Given the description of an element on the screen output the (x, y) to click on. 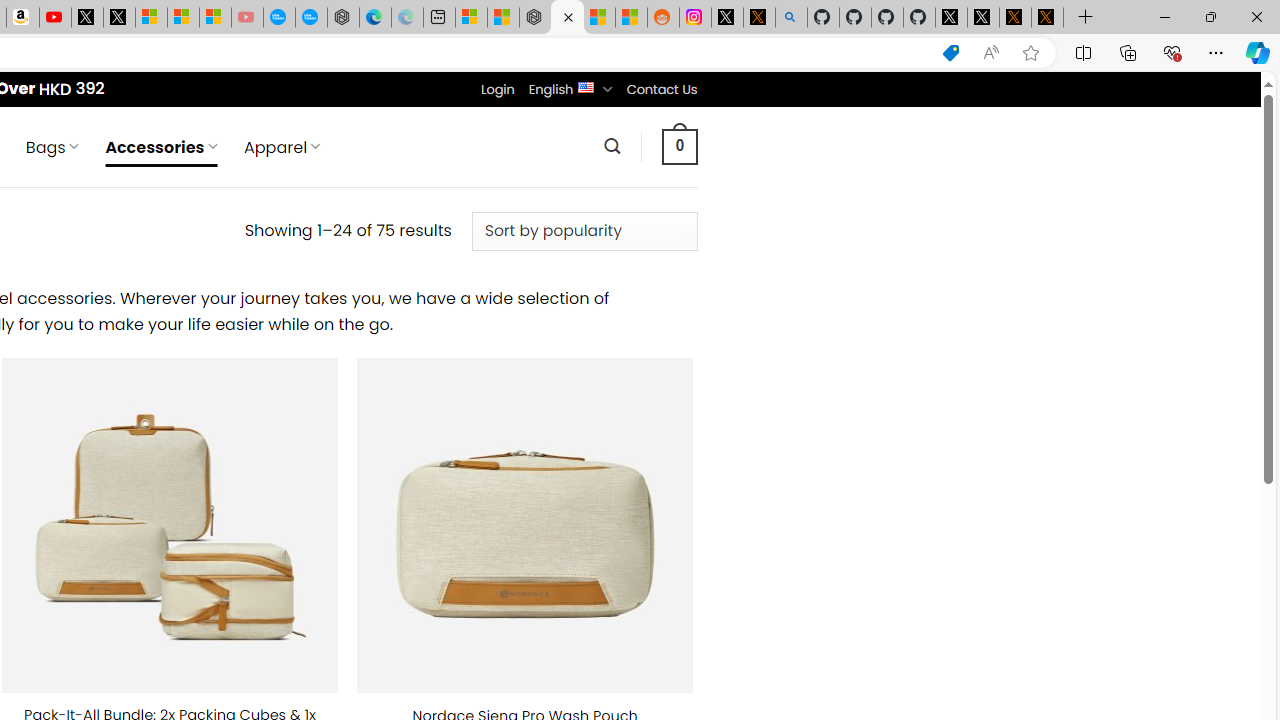
  0   (679, 146)
Microsoft account | Microsoft Account Privacy Settings (471, 17)
Login (497, 89)
Nordace - Best Sellers (535, 17)
